Given the description of an element on the screen output the (x, y) to click on. 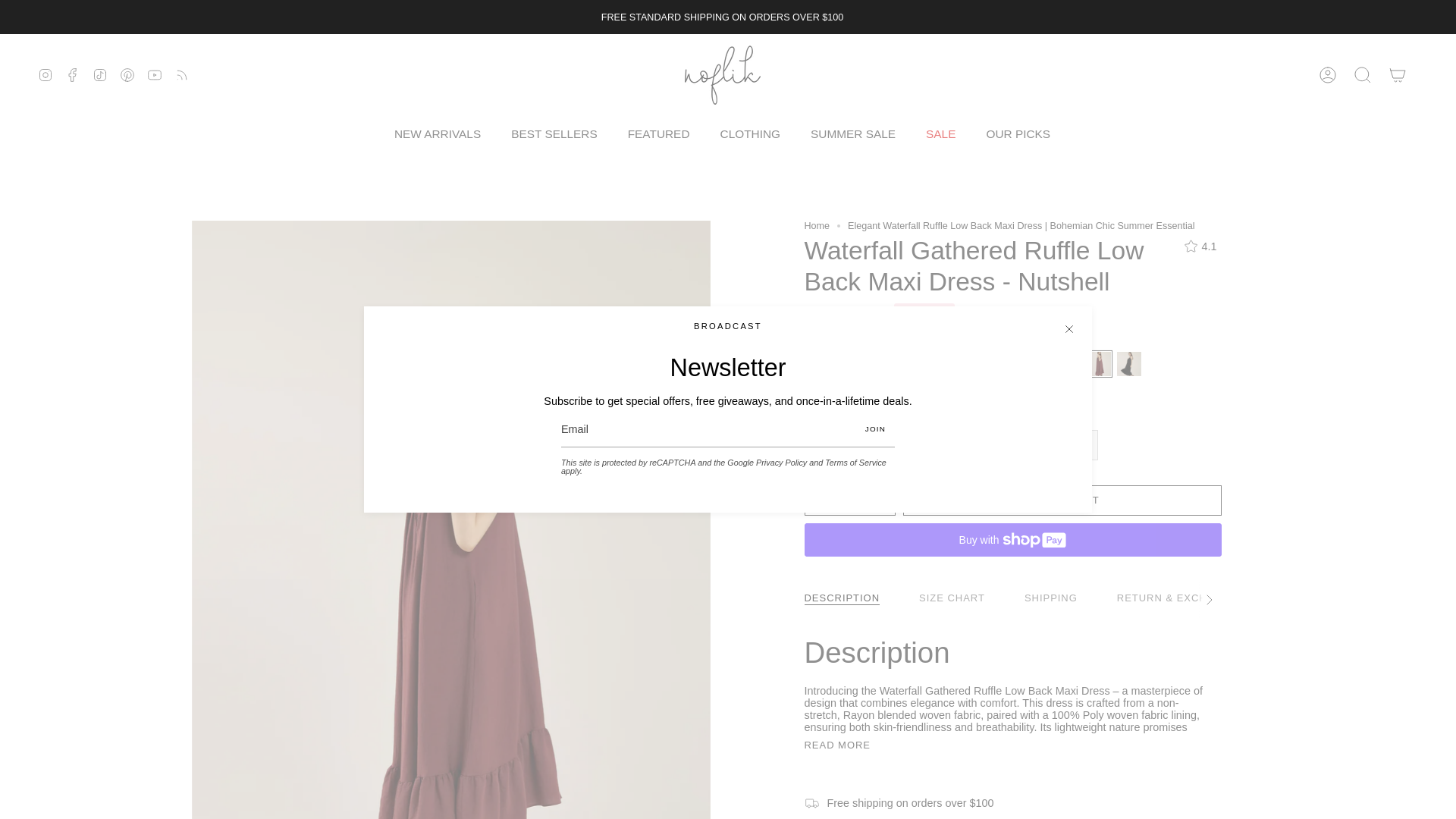
BEST SELLERS (553, 134)
FEATURED (658, 134)
CLOTHING (750, 134)
NEW ARRIVALS (437, 134)
